Given the description of an element on the screen output the (x, y) to click on. 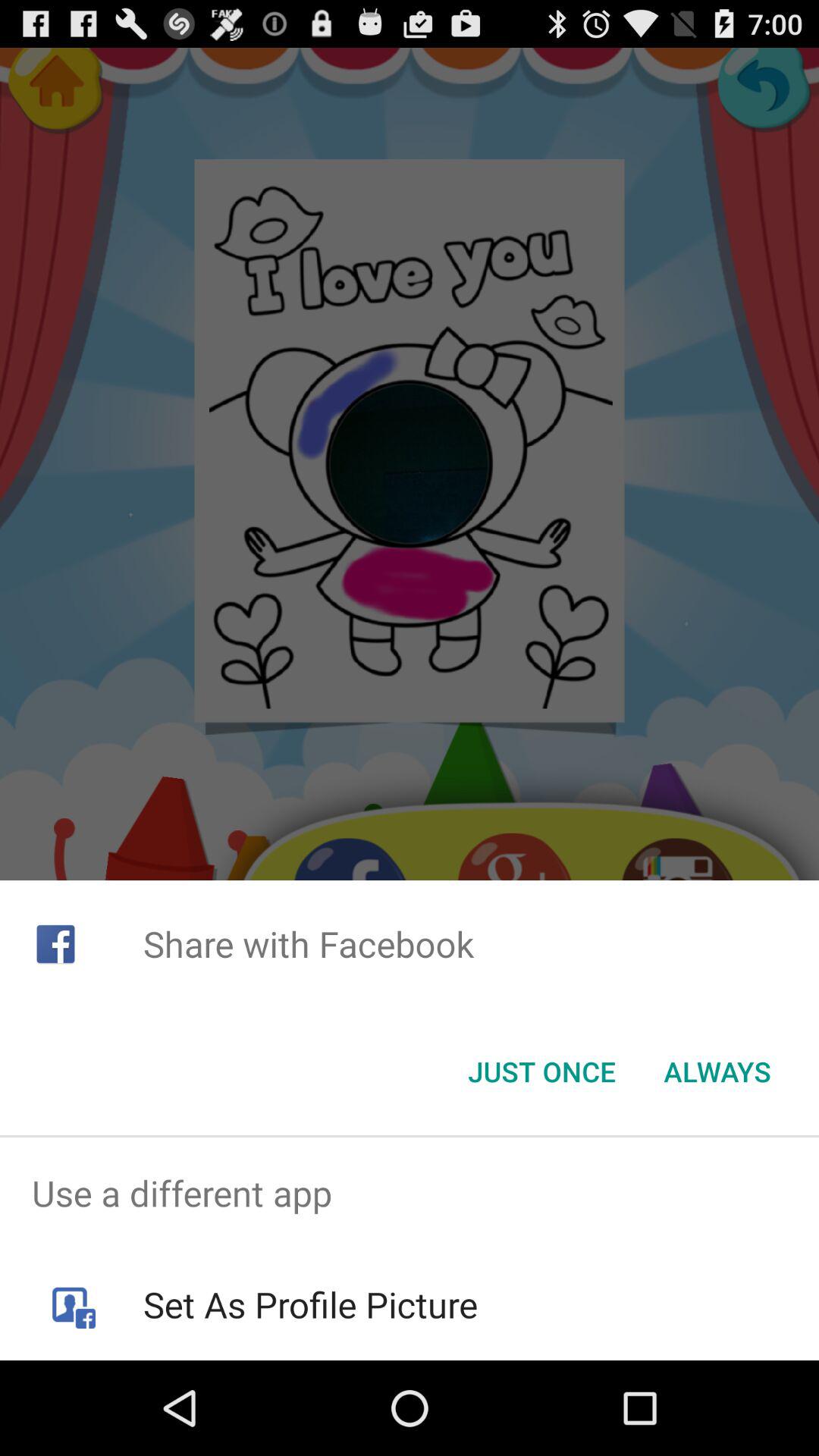
turn on button next to the always icon (541, 1071)
